Given the description of an element on the screen output the (x, y) to click on. 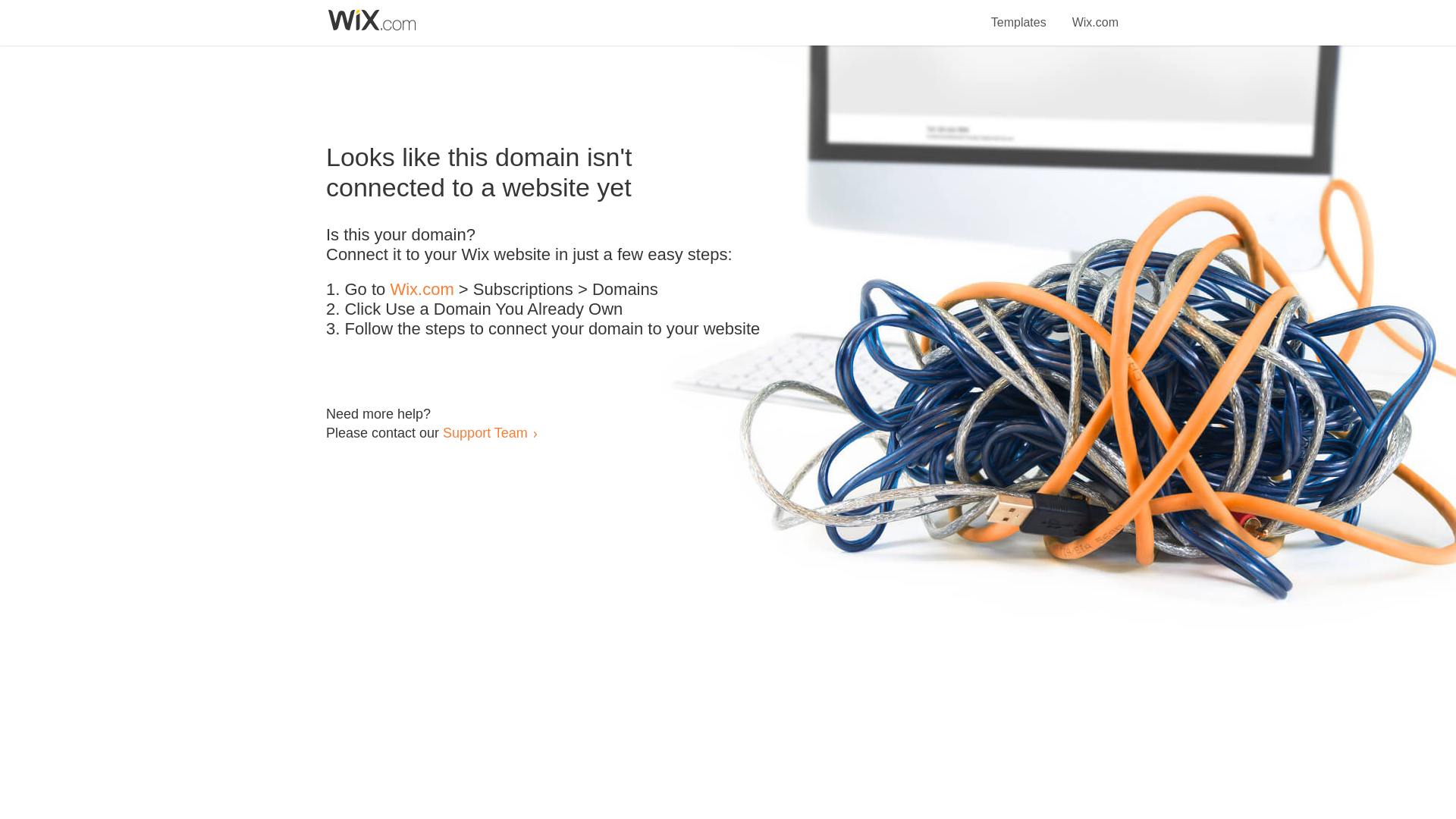
Wix.com (1095, 14)
Support Team (484, 432)
Templates (1018, 14)
Wix.com (421, 289)
